Given the description of an element on the screen output the (x, y) to click on. 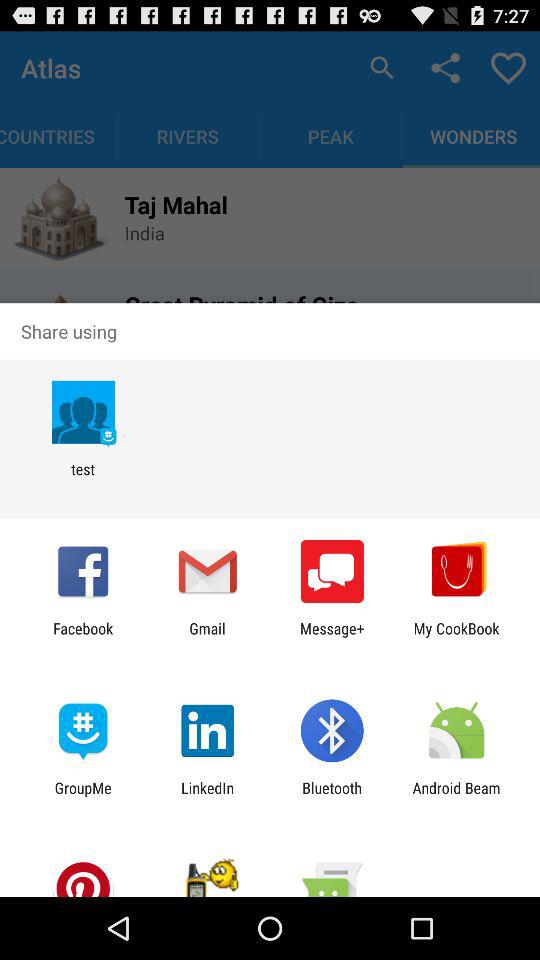
open the my cookbook app (456, 637)
